Given the description of an element on the screen output the (x, y) to click on. 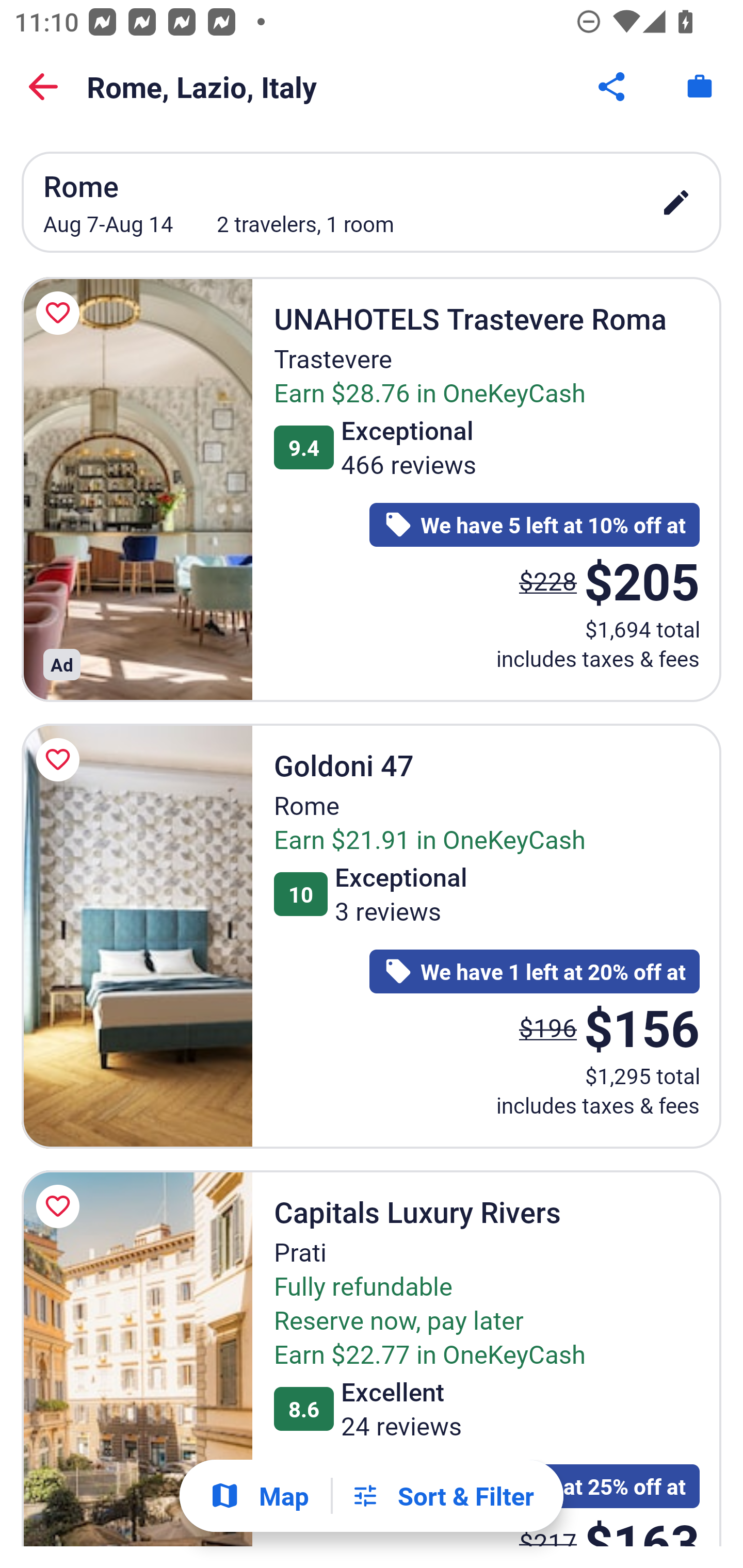
Back (43, 86)
Share Button (612, 86)
Trips. Button (699, 86)
Rome Aug 7-Aug 14 2 travelers, 1 room edit (371, 202)
Save UNAHOTELS Trastevere Roma to a trip (61, 314)
UNAHOTELS Trastevere Roma (136, 489)
$228 The price was $228 (547, 580)
Save Goldoni 47 to a trip (61, 759)
Goldoni 47 (136, 936)
$196 The price was $196 (547, 1027)
Save Capitals Luxury Rivers to a trip (61, 1206)
Capitals Luxury Rivers (136, 1357)
Filters Sort & Filter Filters Button (442, 1495)
Show map Map Show map Button (258, 1495)
